Given the description of an element on the screen output the (x, y) to click on. 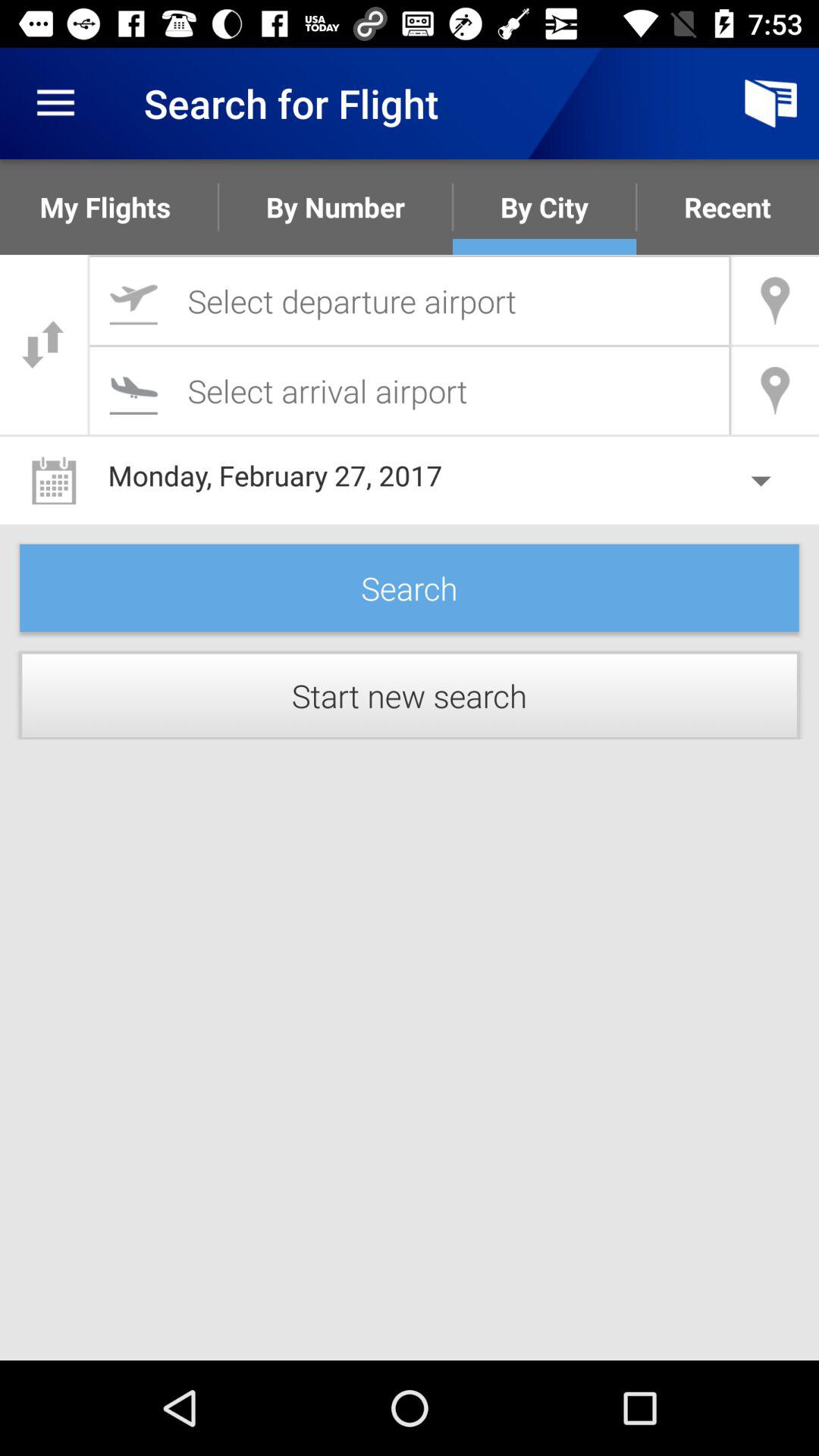
go to search (409, 300)
